Given the description of an element on the screen output the (x, y) to click on. 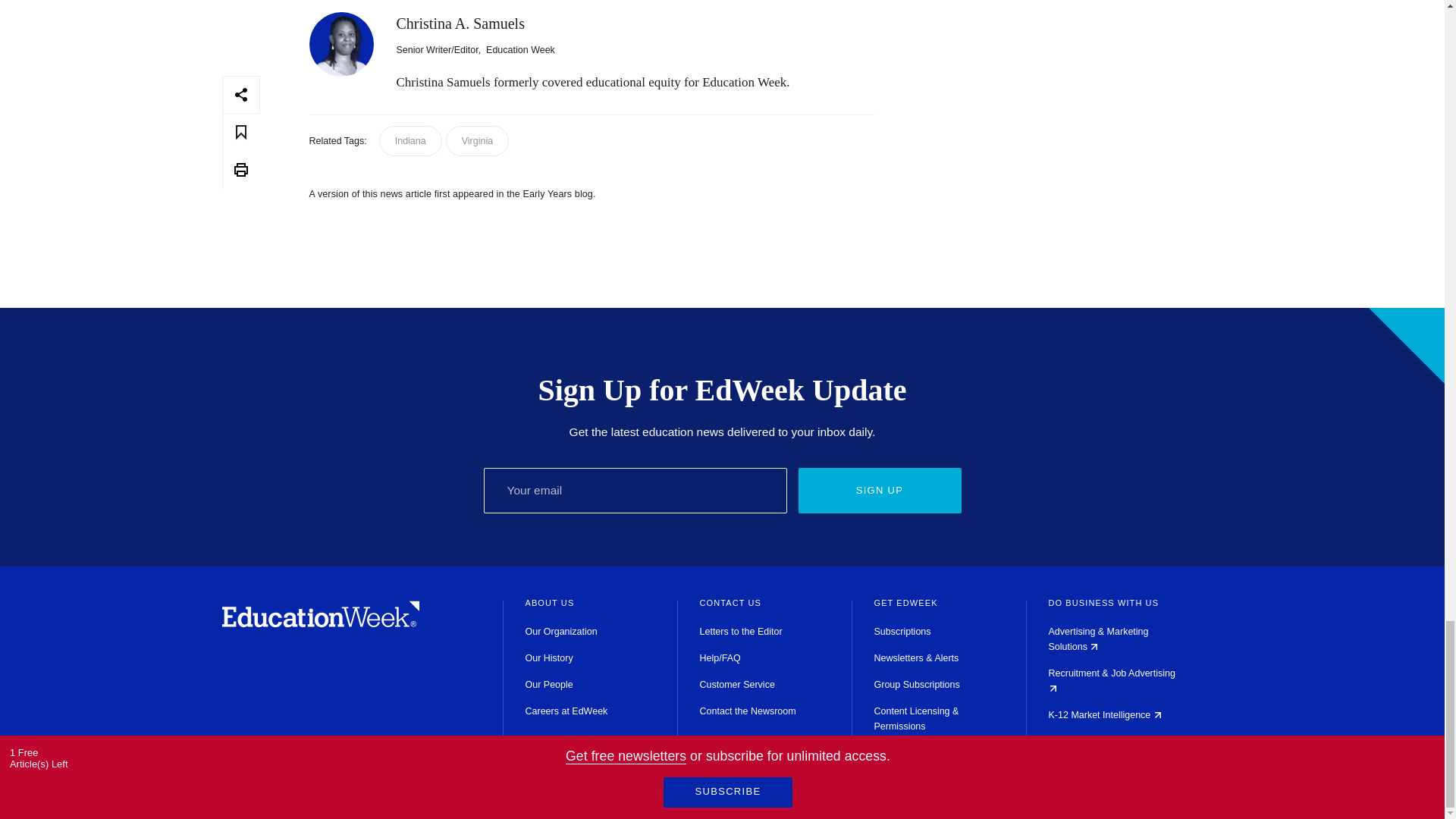
Homepage (320, 623)
